Given the description of an element on the screen output the (x, y) to click on. 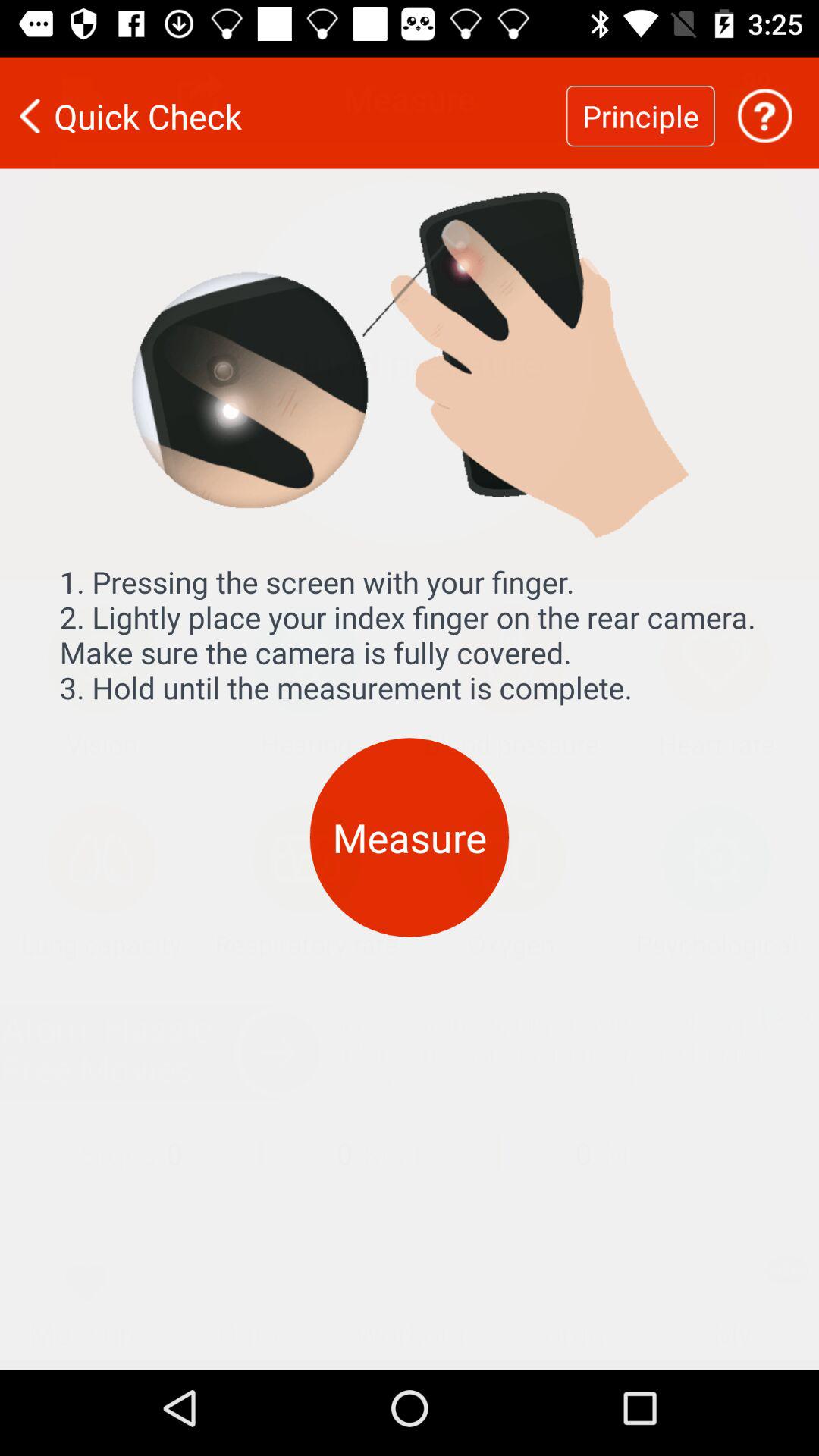
turn on item next to quick check item (640, 106)
